Given the description of an element on the screen output the (x, y) to click on. 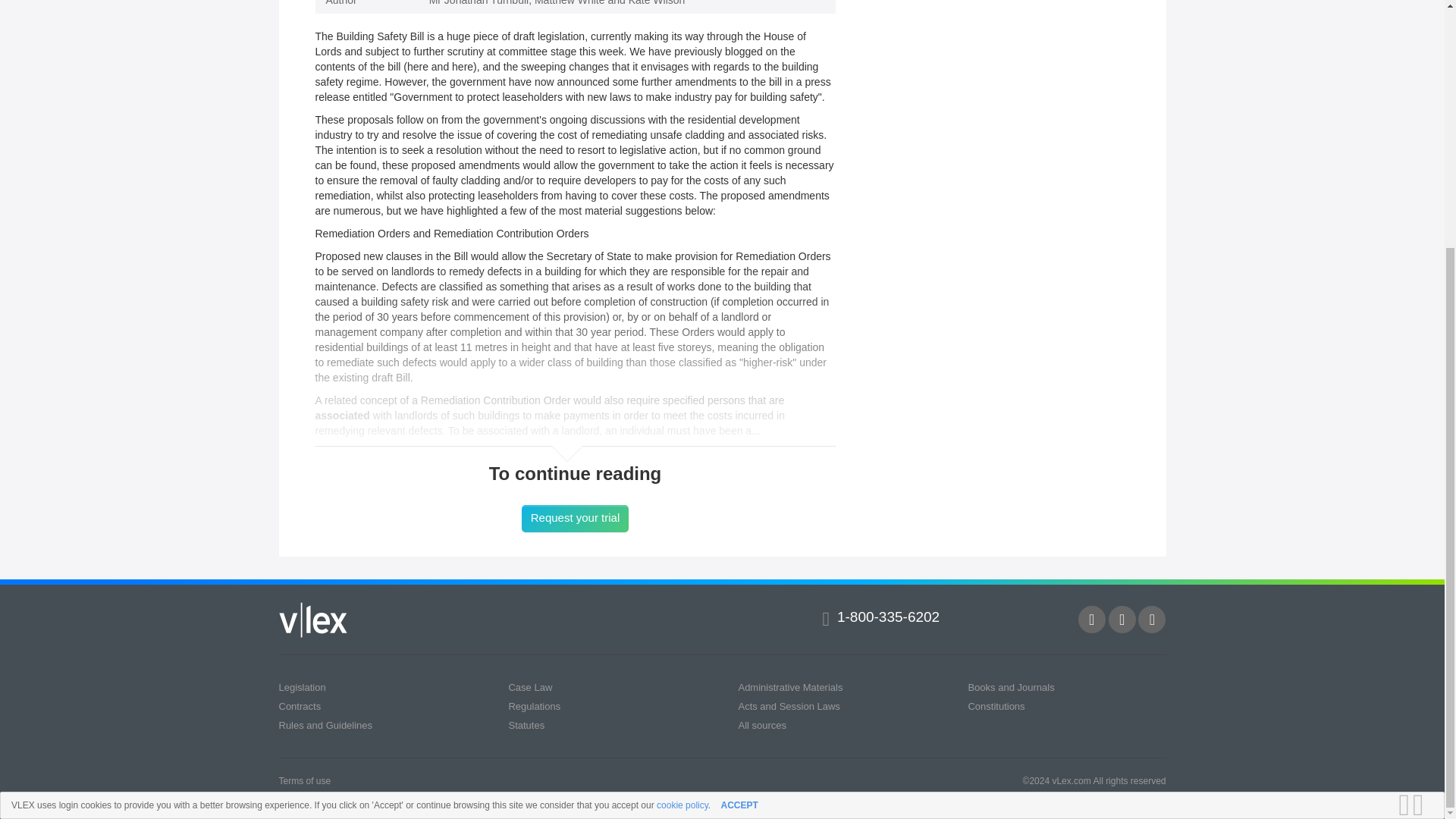
Legislation (302, 686)
Statutes (526, 725)
Contracts (300, 706)
Administrative Materials (790, 686)
Books and Journals (1011, 686)
Books and Journals (1011, 686)
All sources (762, 725)
cookie policy (681, 459)
Statutes (526, 725)
Acts and Session Laws (789, 706)
